Given the description of an element on the screen output the (x, y) to click on. 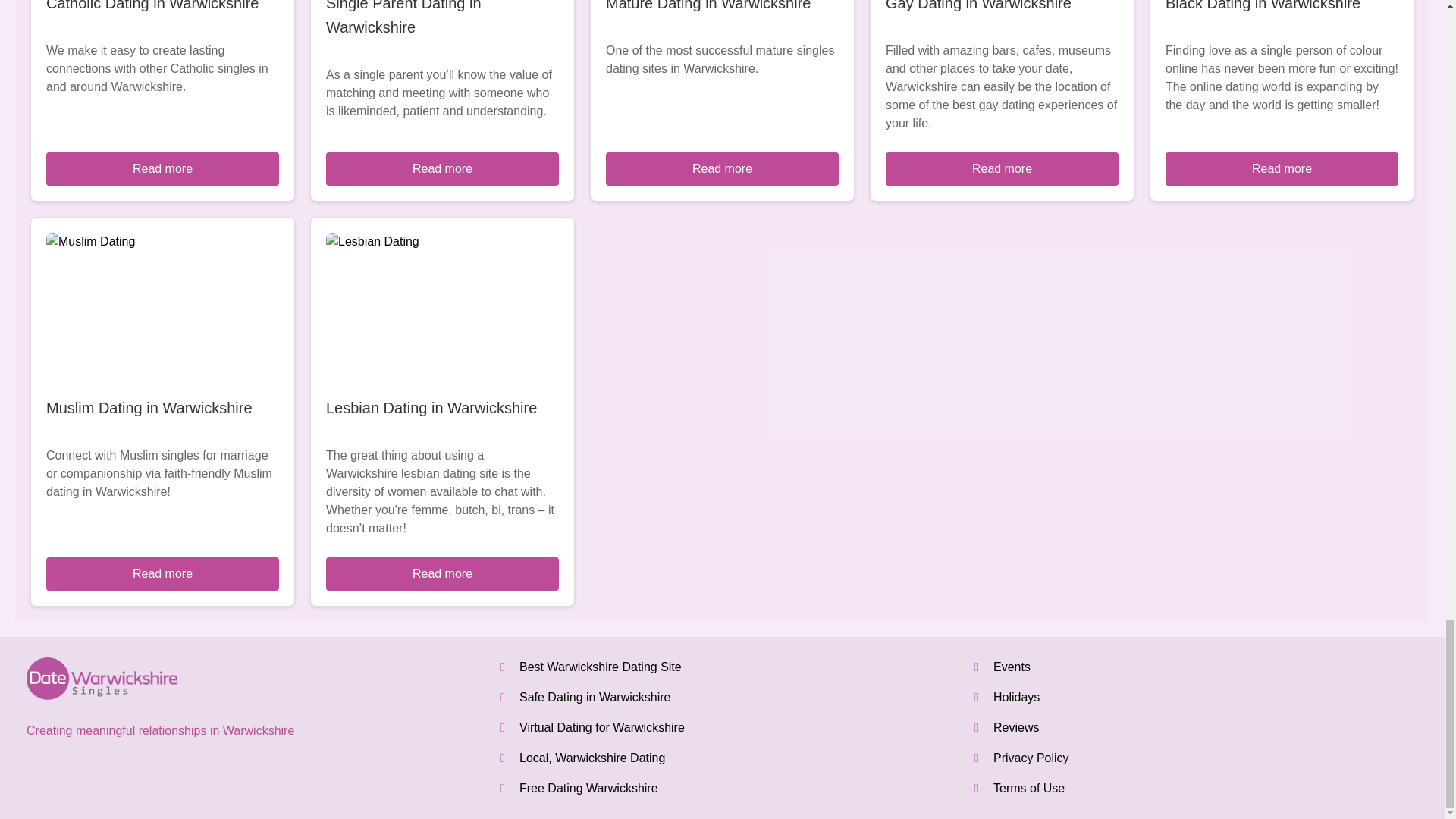
Safe Dating in Warwickshire (594, 697)
Local, Warwickshire Dating (592, 757)
Virtual Dating for Warwickshire (601, 727)
Terms of Use (1028, 788)
Events (1011, 666)
Read more (162, 168)
Reviews (1015, 727)
Free Dating Warwickshire (588, 788)
Read more (442, 168)
Read more (162, 573)
Privacy Policy (1030, 757)
Read more (1281, 168)
Read more (721, 168)
Best Warwickshire Dating Site (600, 666)
Read more (442, 573)
